Given the description of an element on the screen output the (x, y) to click on. 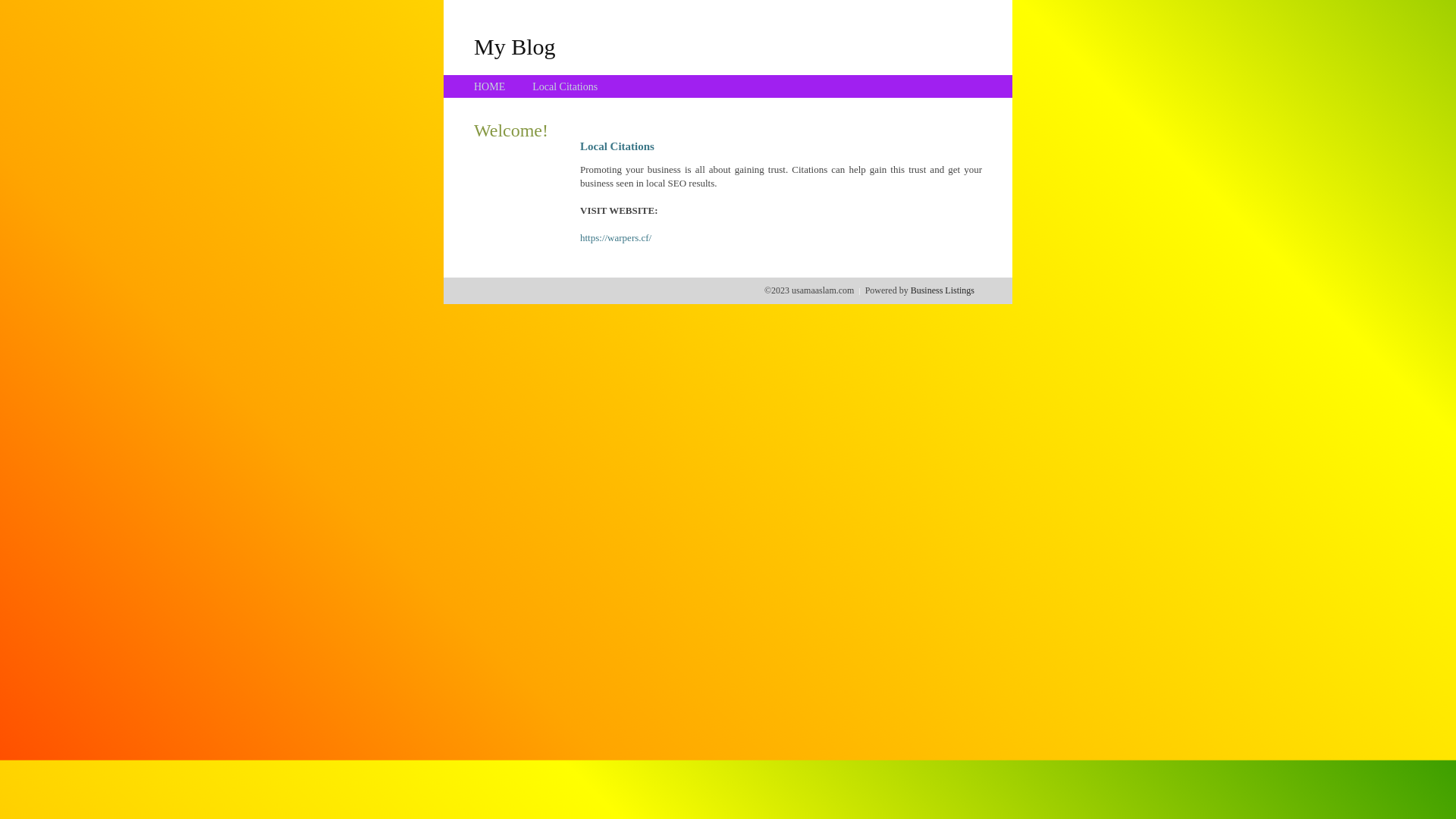
https://warpers.cf/ Element type: text (615, 237)
My Blog Element type: text (514, 46)
Local Citations Element type: text (564, 86)
HOME Element type: text (489, 86)
Business Listings Element type: text (942, 290)
